Given the description of an element on the screen output the (x, y) to click on. 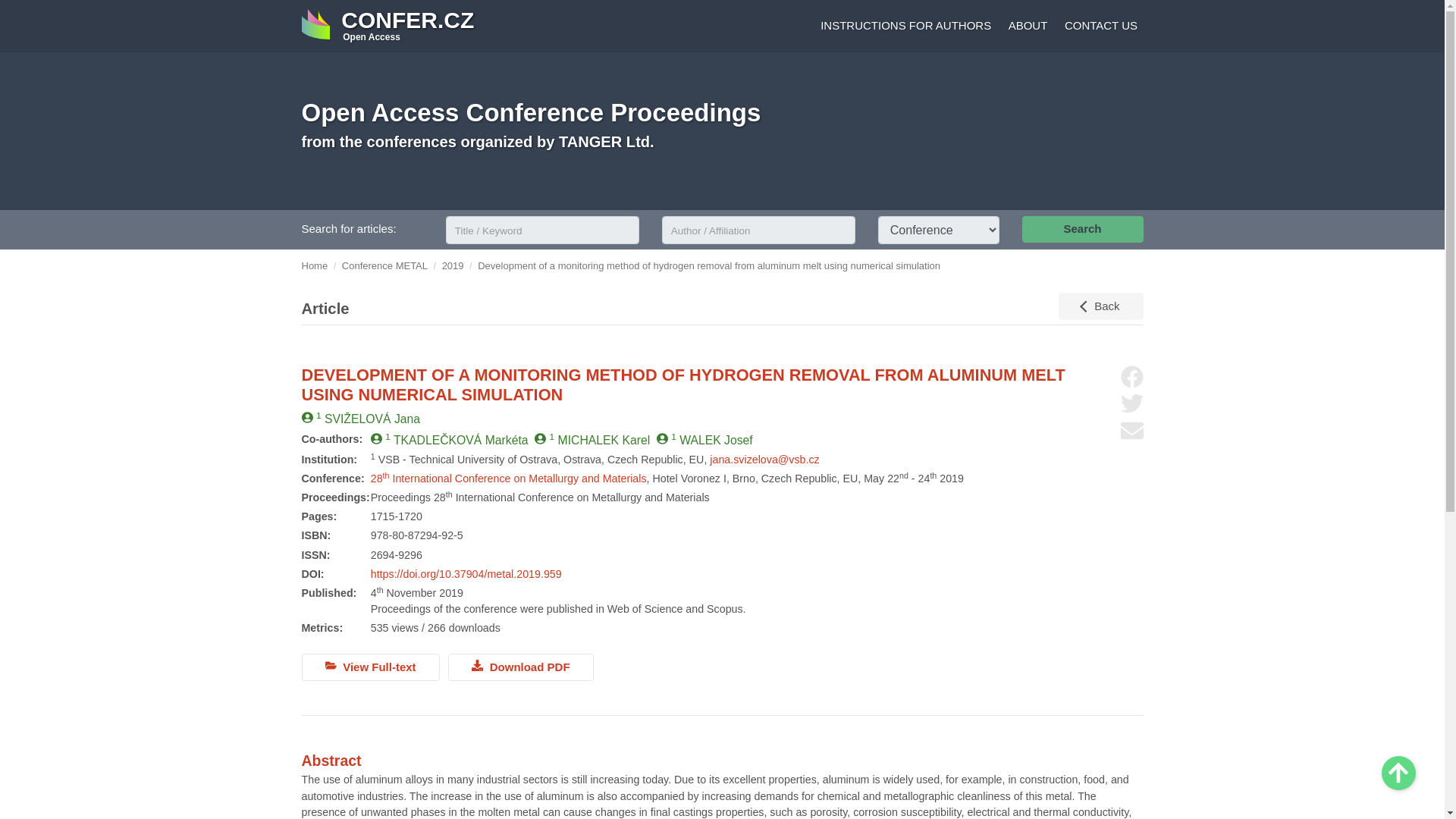
View Full-text (387, 25)
ABOUT (370, 666)
INSTRUCTIONS FOR AUTHORS (1024, 26)
Share on Twitter (903, 26)
Search (1131, 403)
Open Access Conference Proceedings (1082, 229)
28th International Conference on Metallurgy and Materials (531, 112)
2019 (508, 478)
Scroll to Top (453, 265)
Home (1398, 772)
Scroll to Top (315, 265)
Download PDF (1398, 772)
Conference METAL (521, 666)
Share on Facebook (385, 265)
